Given the description of an element on the screen output the (x, y) to click on. 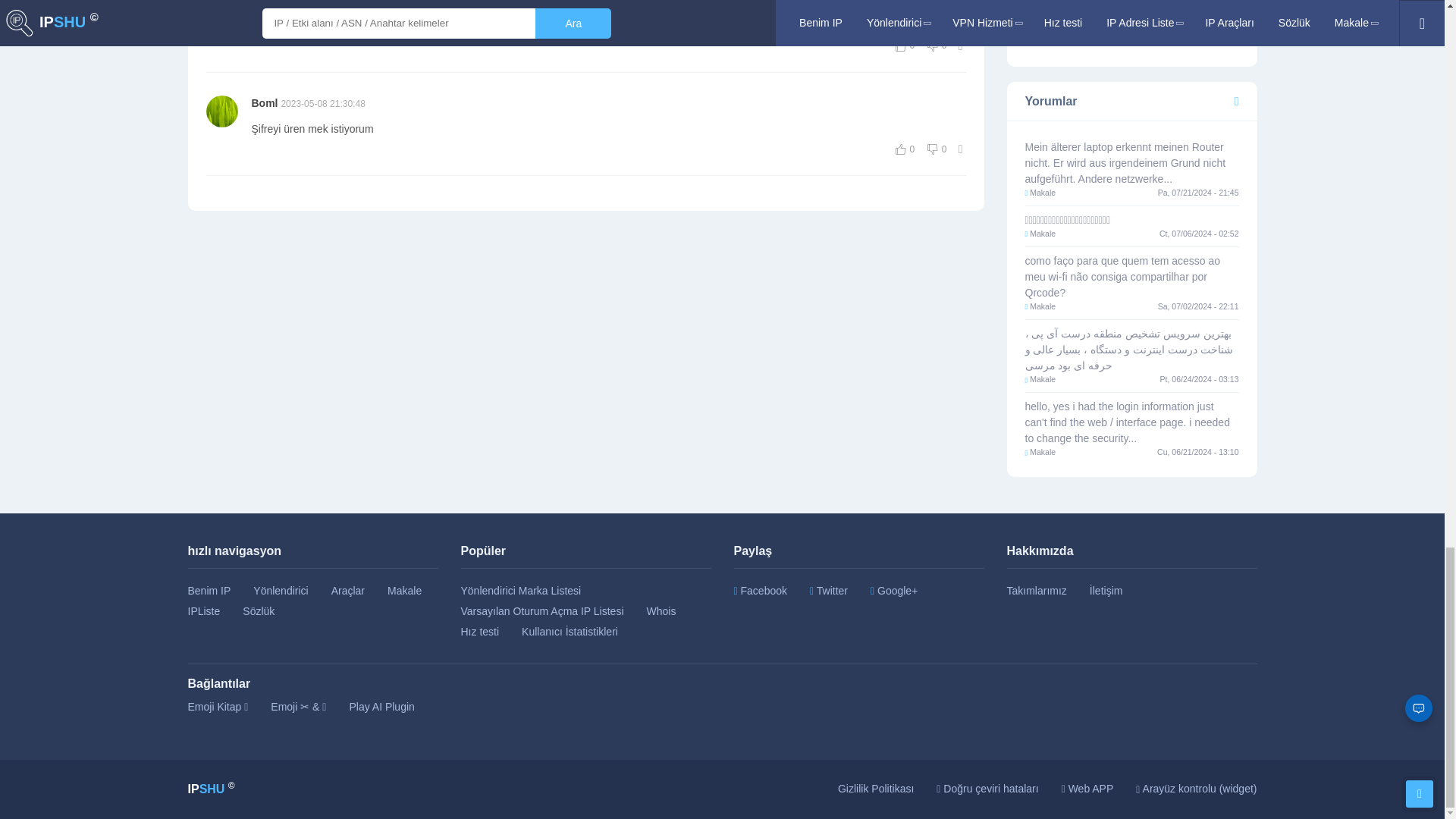
Ana Sayfa (211, 789)
